Given the description of an element on the screen output the (x, y) to click on. 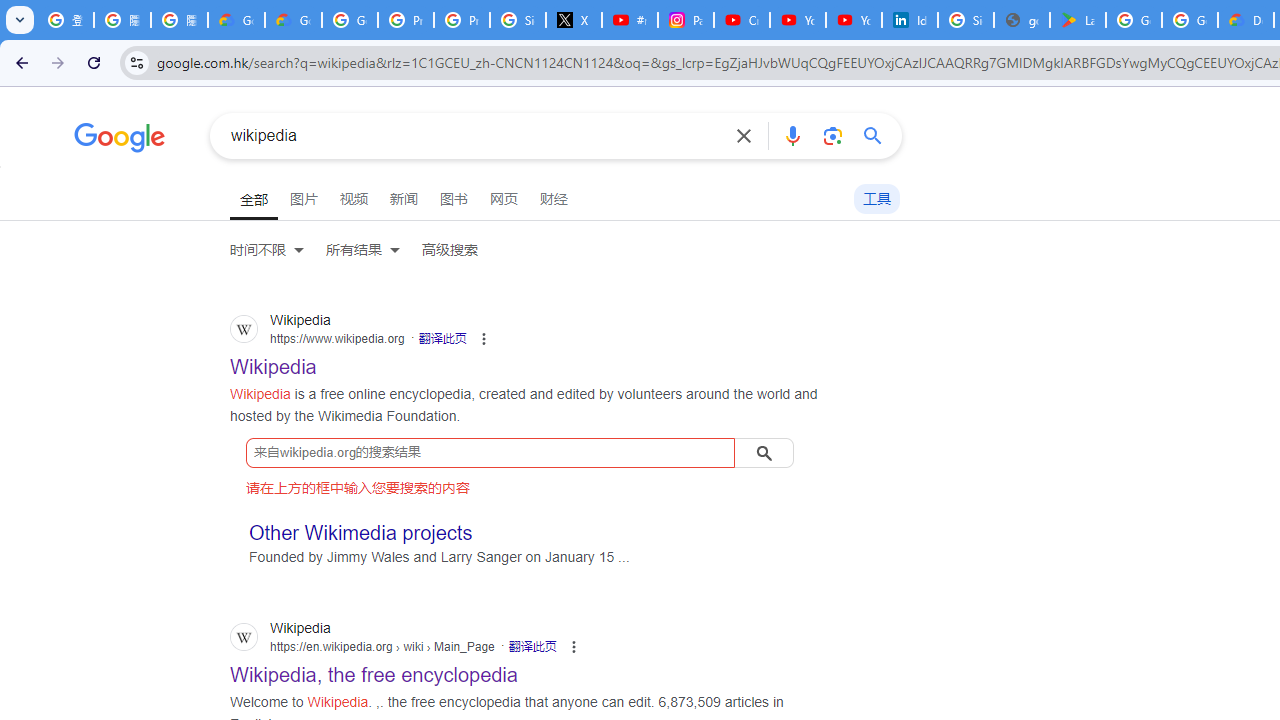
YouTube Culture & Trends - YouTube Top 10, 2021 (853, 20)
Other Wikimedia projects (361, 532)
Google Cloud Privacy Notice (235, 20)
